Given the description of an element on the screen output the (x, y) to click on. 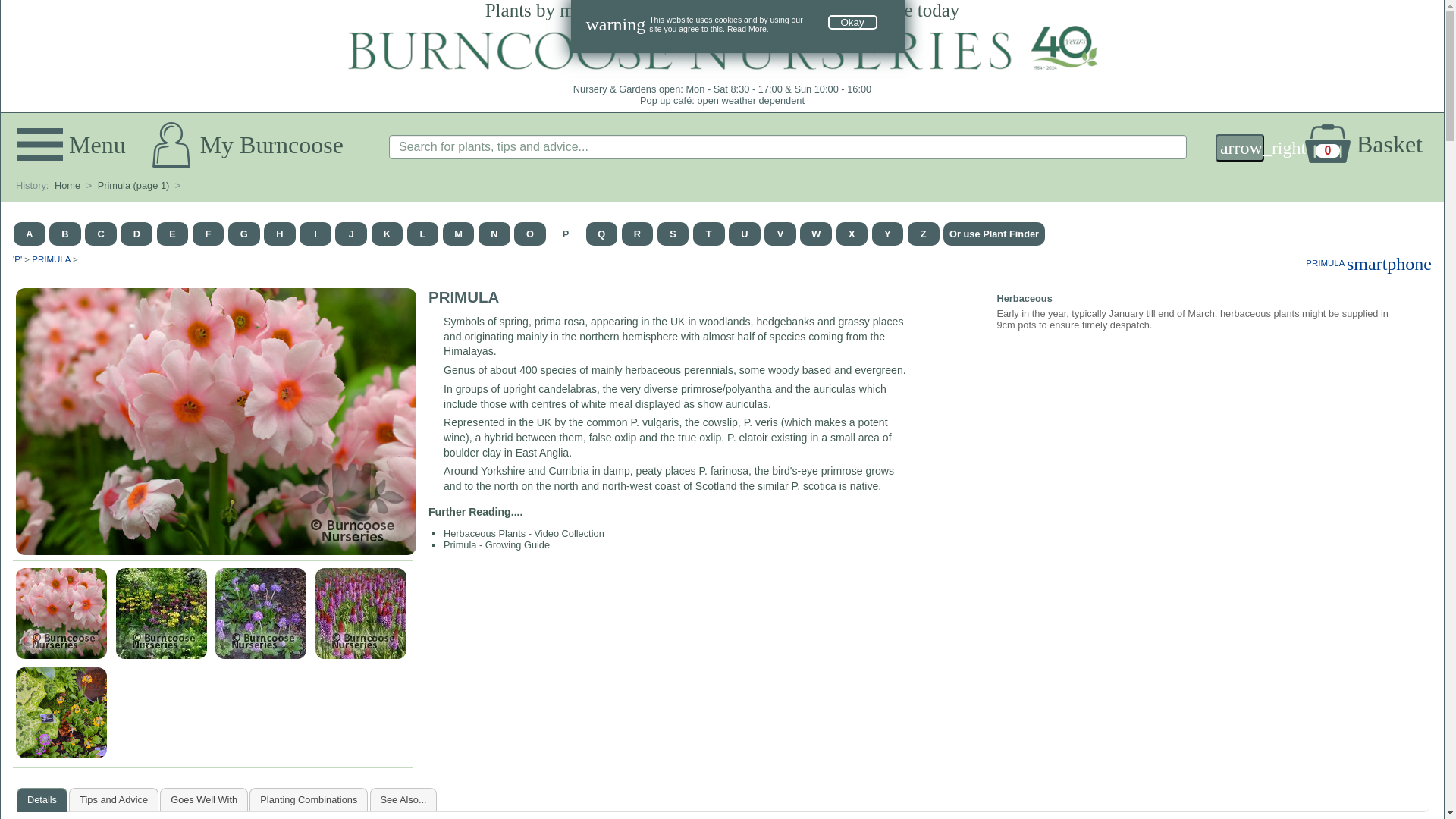
My Burncoose (248, 144)
Your basket is empty (1373, 144)
Okay (852, 22)
Read More. (1373, 144)
Burncoose Nurseries - part of the Caerhays Estate (747, 28)
Main Menu (722, 47)
